Given the description of an element on the screen output the (x, y) to click on. 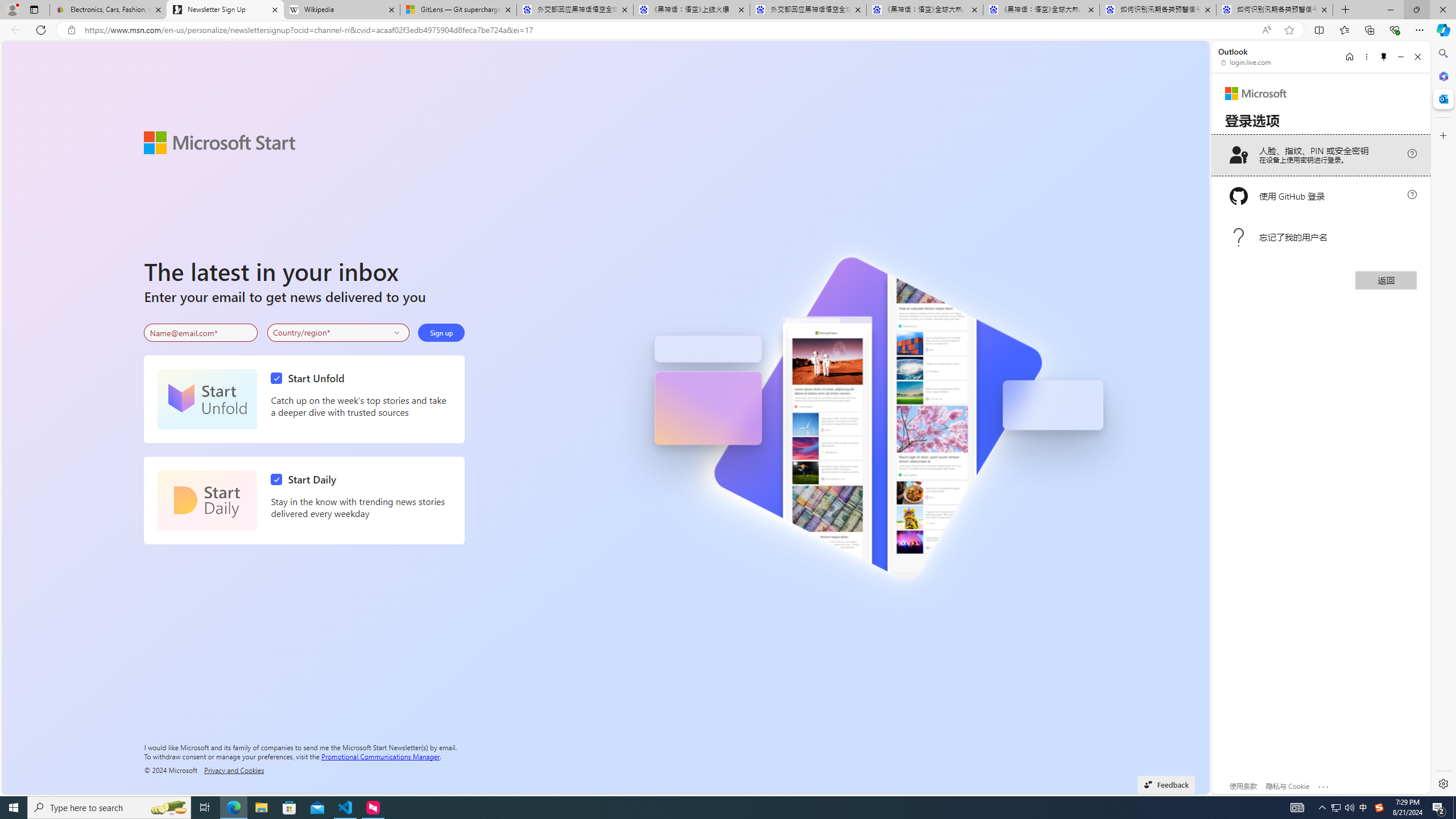
Start Daily (207, 500)
Enter your email (200, 332)
